Given the description of an element on the screen output the (x, y) to click on. 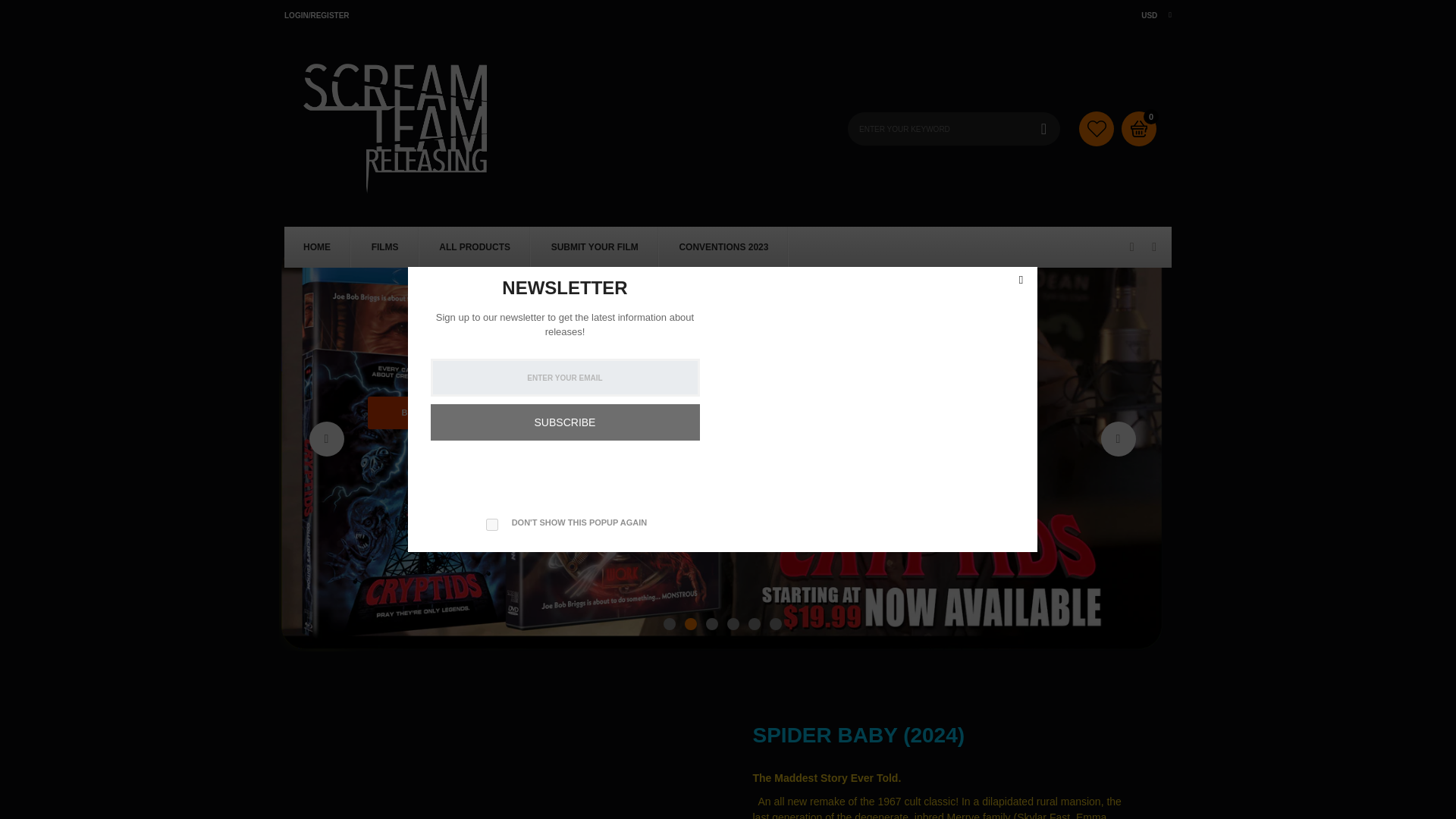
My Cart (1150, 116)
My Account (316, 14)
Scream Team Releasing on Instagram (1153, 247)
FILMS (384, 246)
ALL PRODUCTS (474, 246)
Submit Your Film  (595, 246)
HOME (316, 246)
Search (1043, 127)
Conventions 2023 (723, 246)
Scream Team Releasing on Facebook (1131, 247)
on (491, 524)
Home (316, 246)
Wishlist (1095, 127)
FILMS (384, 246)
